Given the description of an element on the screen output the (x, y) to click on. 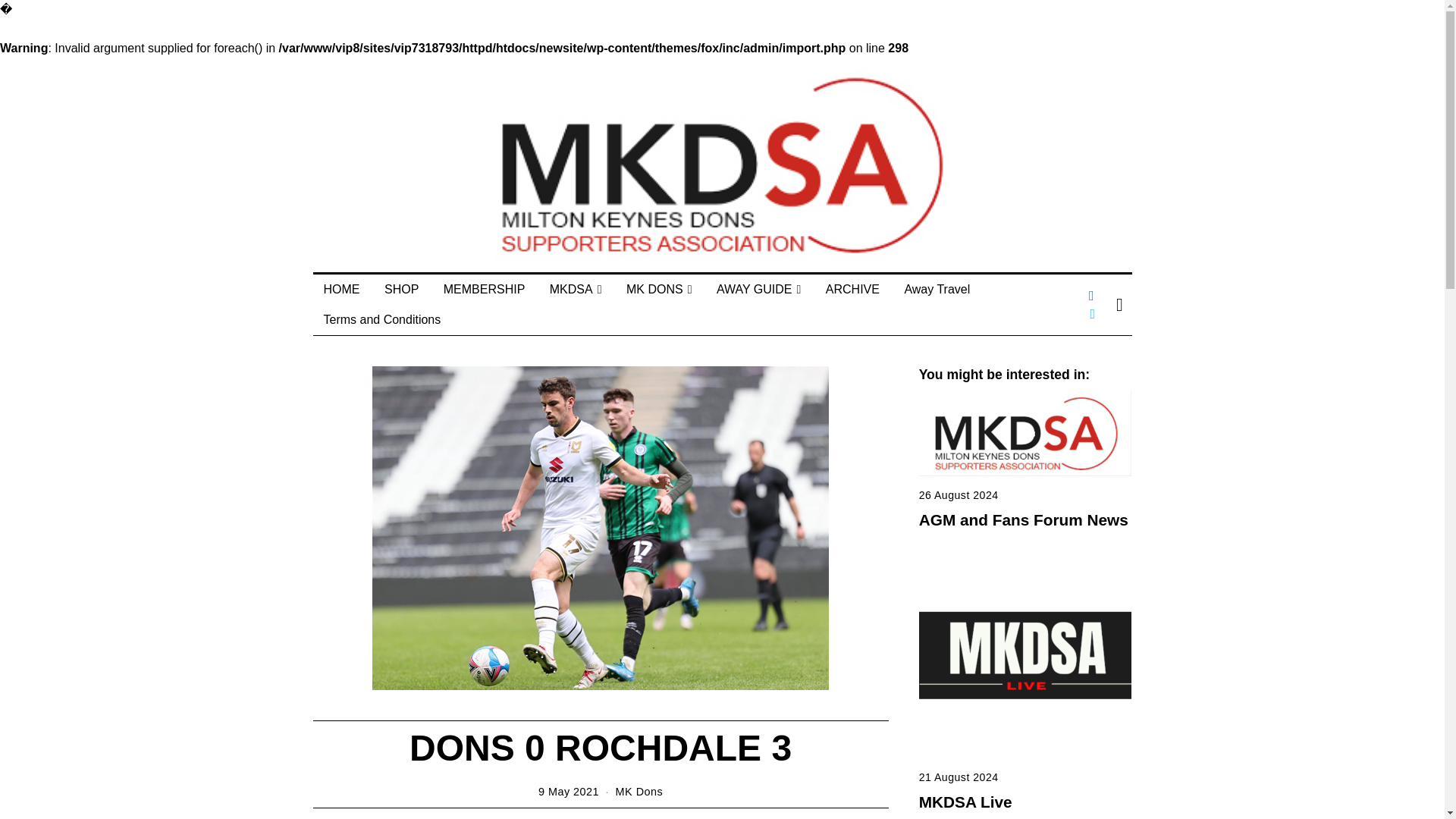
SHOP (401, 289)
Terms and Conditions (382, 319)
MKDSA (575, 289)
MK Dons (639, 791)
MK DONS (659, 289)
MKDSA Live (964, 801)
Away Travel (936, 289)
ARCHIVE (852, 289)
MEMBERSHIP (483, 289)
HOME (341, 289)
